Given the description of an element on the screen output the (x, y) to click on. 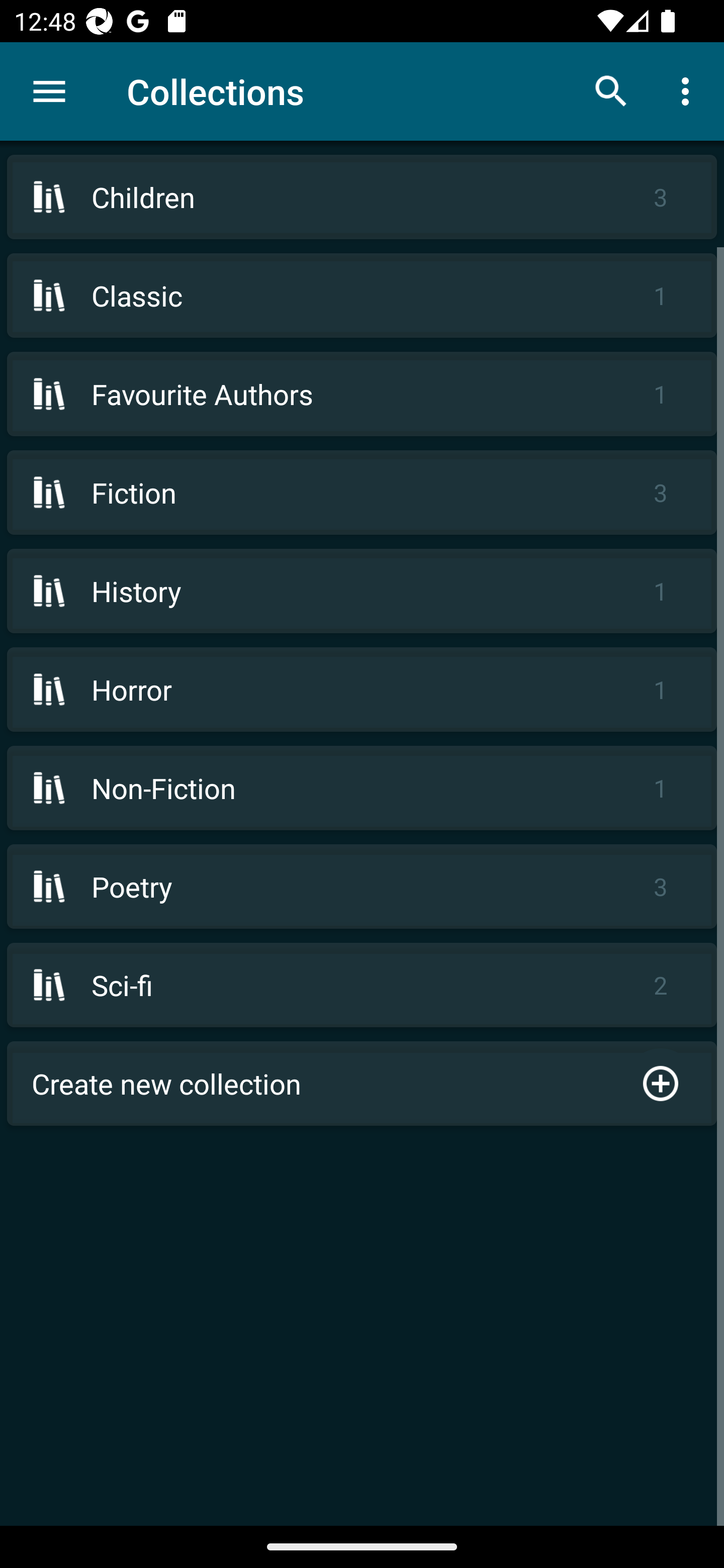
Menu (49, 91)
Search books & documents (611, 90)
More options (688, 90)
Children 3 (361, 197)
Classic 1 (361, 295)
Favourite Authors 1 (361, 393)
Fiction 3 (361, 492)
History 1 (361, 590)
Horror 1 (361, 689)
Non-Fiction 1 (361, 787)
Poetry 3 (361, 885)
Sci-fi 2 (361, 984)
Create new collection (361, 1083)
